Given the description of an element on the screen output the (x, y) to click on. 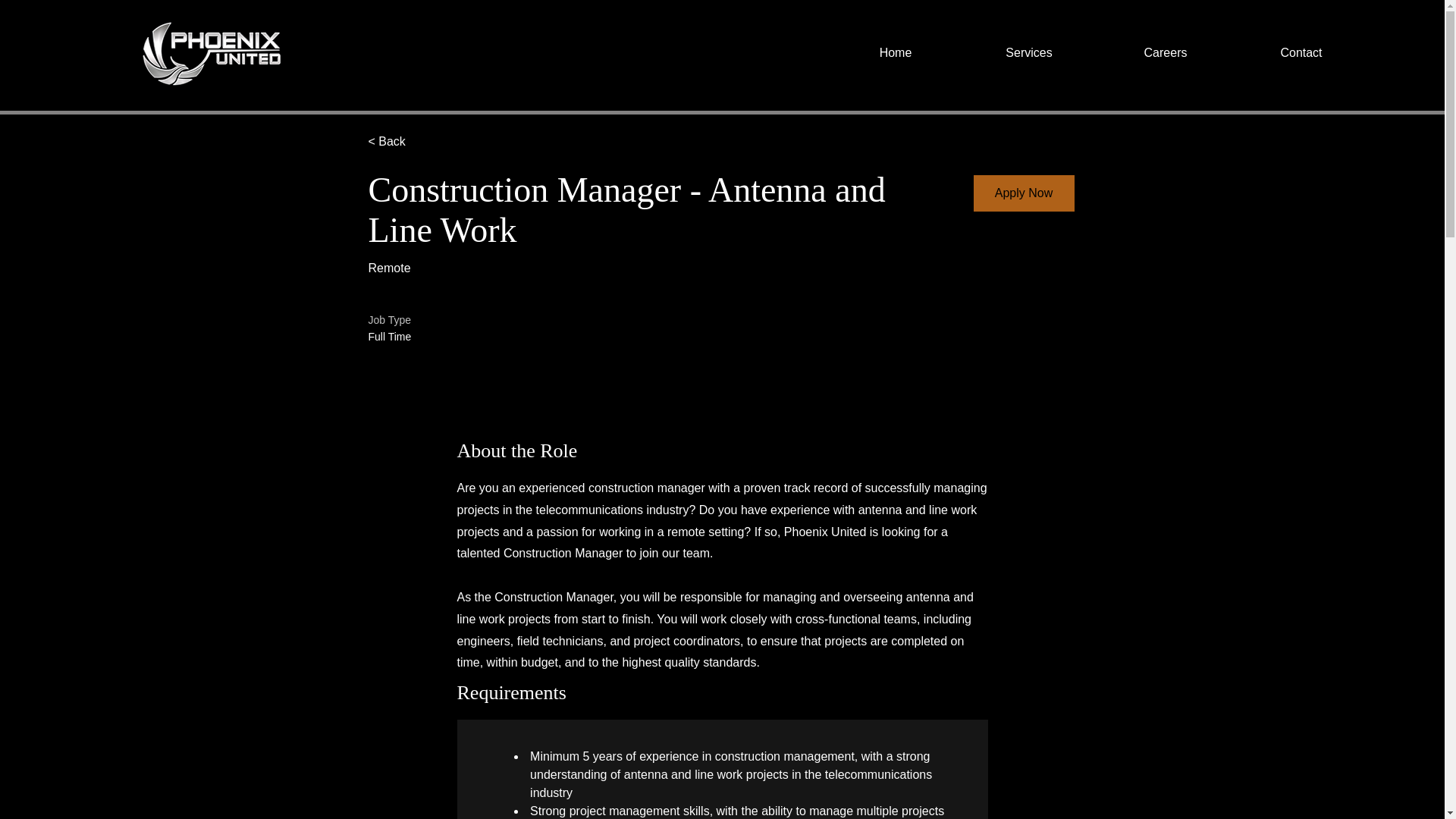
Careers (1165, 53)
Contact (1301, 53)
Services (1028, 53)
Home (895, 53)
